Given the description of an element on the screen output the (x, y) to click on. 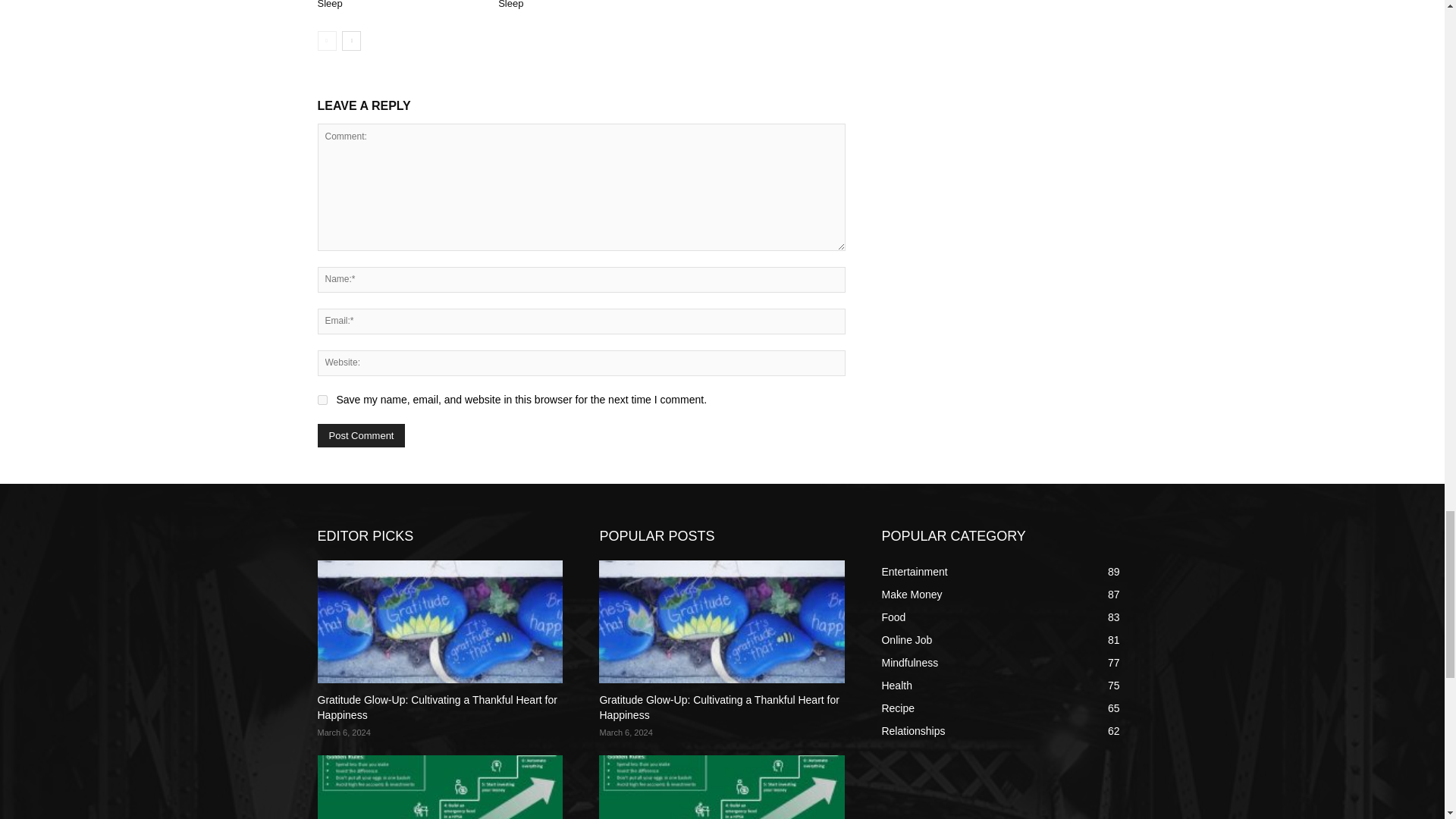
Post Comment (360, 435)
yes (321, 399)
